Given the description of an element on the screen output the (x, y) to click on. 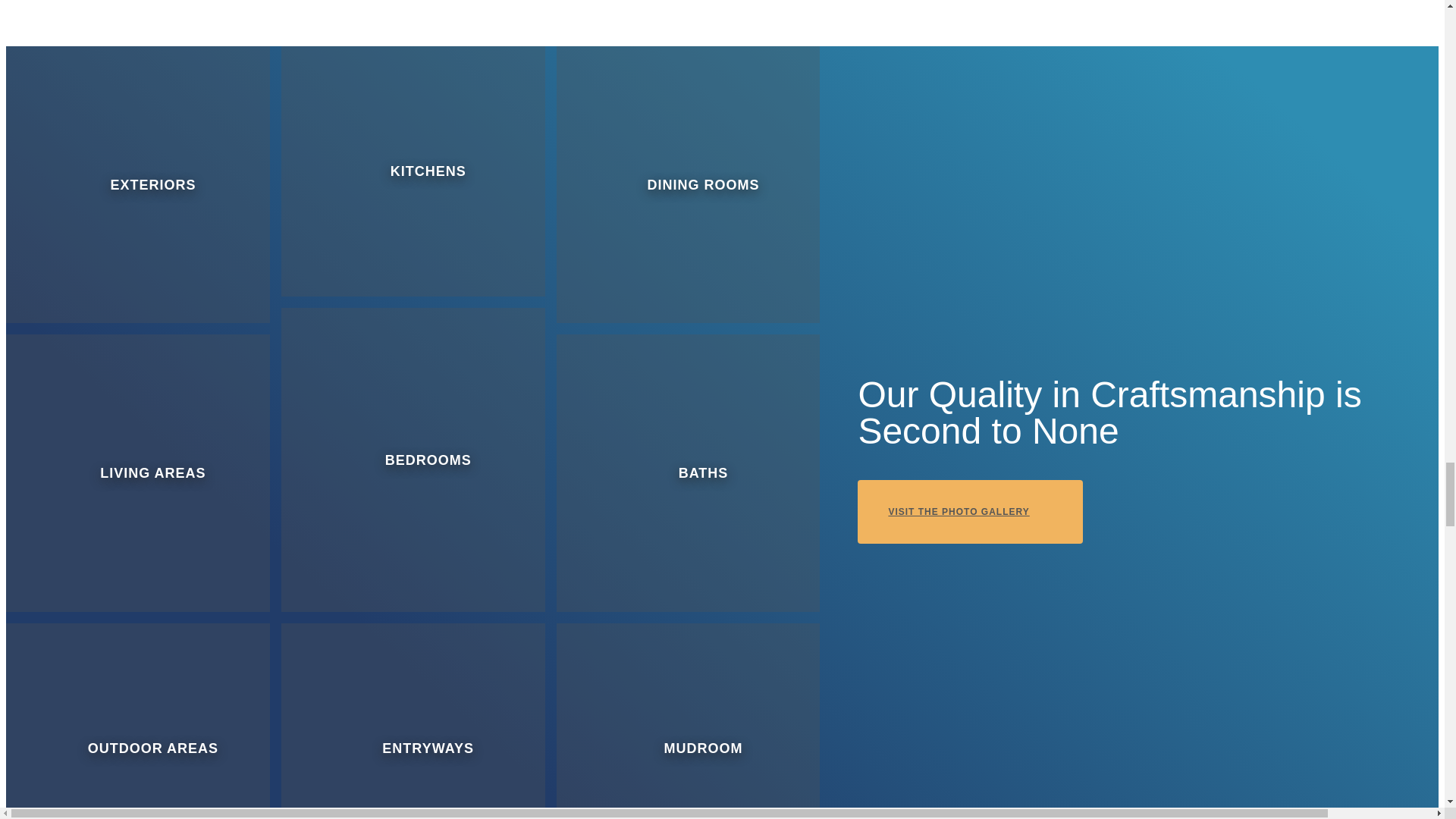
BATHS (688, 472)
MUDROOM (688, 721)
OUTDOOR AREAS (137, 721)
ENTRYWAYS (412, 721)
EXTERIORS (137, 183)
KITCHENS (412, 170)
LIVING AREAS (137, 472)
DINING ROOMS (688, 183)
